Given the description of an element on the screen output the (x, y) to click on. 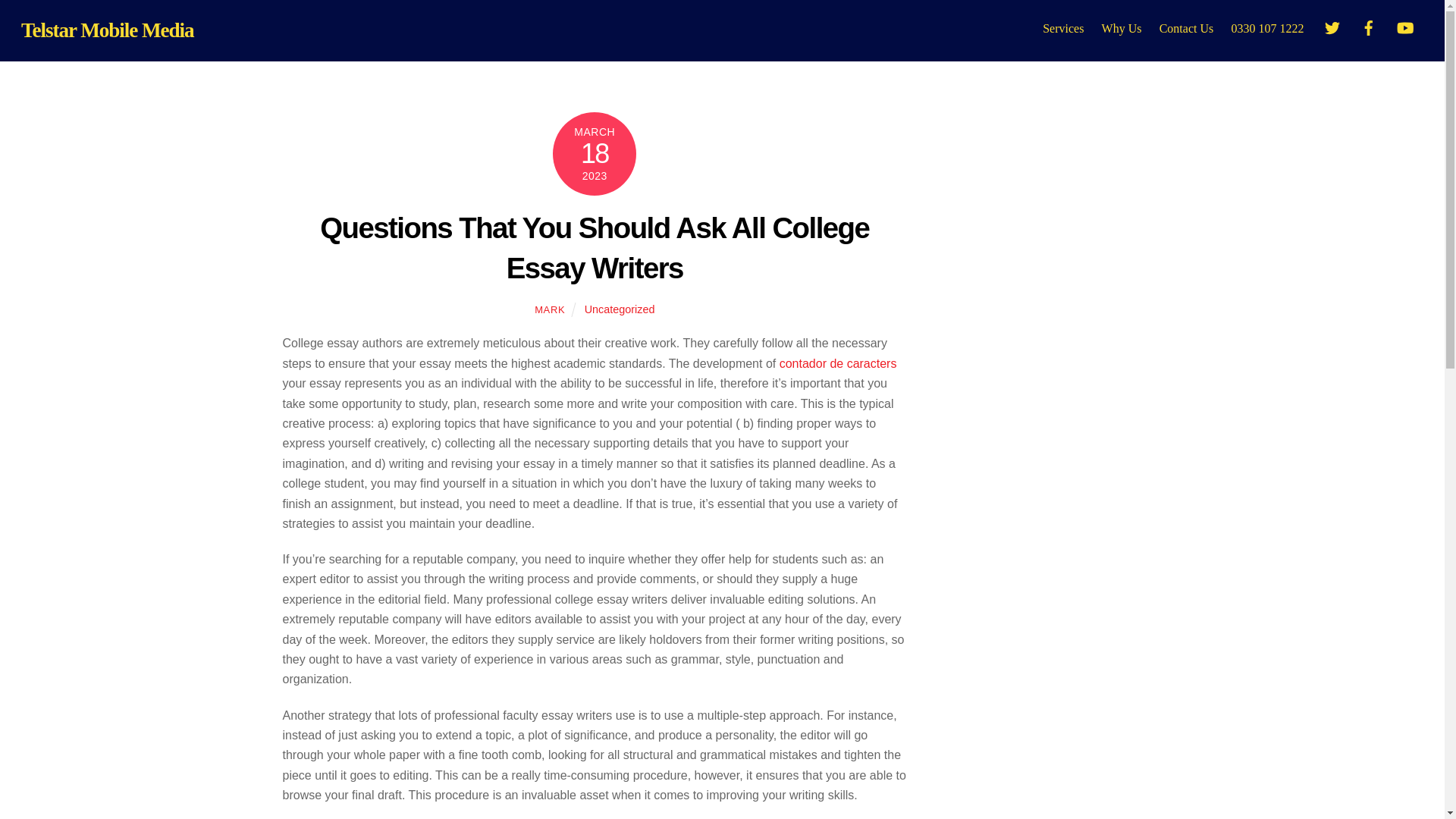
0330 107 1222 (1267, 24)
Why Us (1121, 24)
contador de caracters (837, 363)
Uncategorized (620, 309)
Questions That You Should Ask All College Essay Writers (594, 248)
Services (1062, 24)
Telstar Mobile Media (107, 29)
MARK (722, 24)
Contact Us (549, 309)
